Given the description of an element on the screen output the (x, y) to click on. 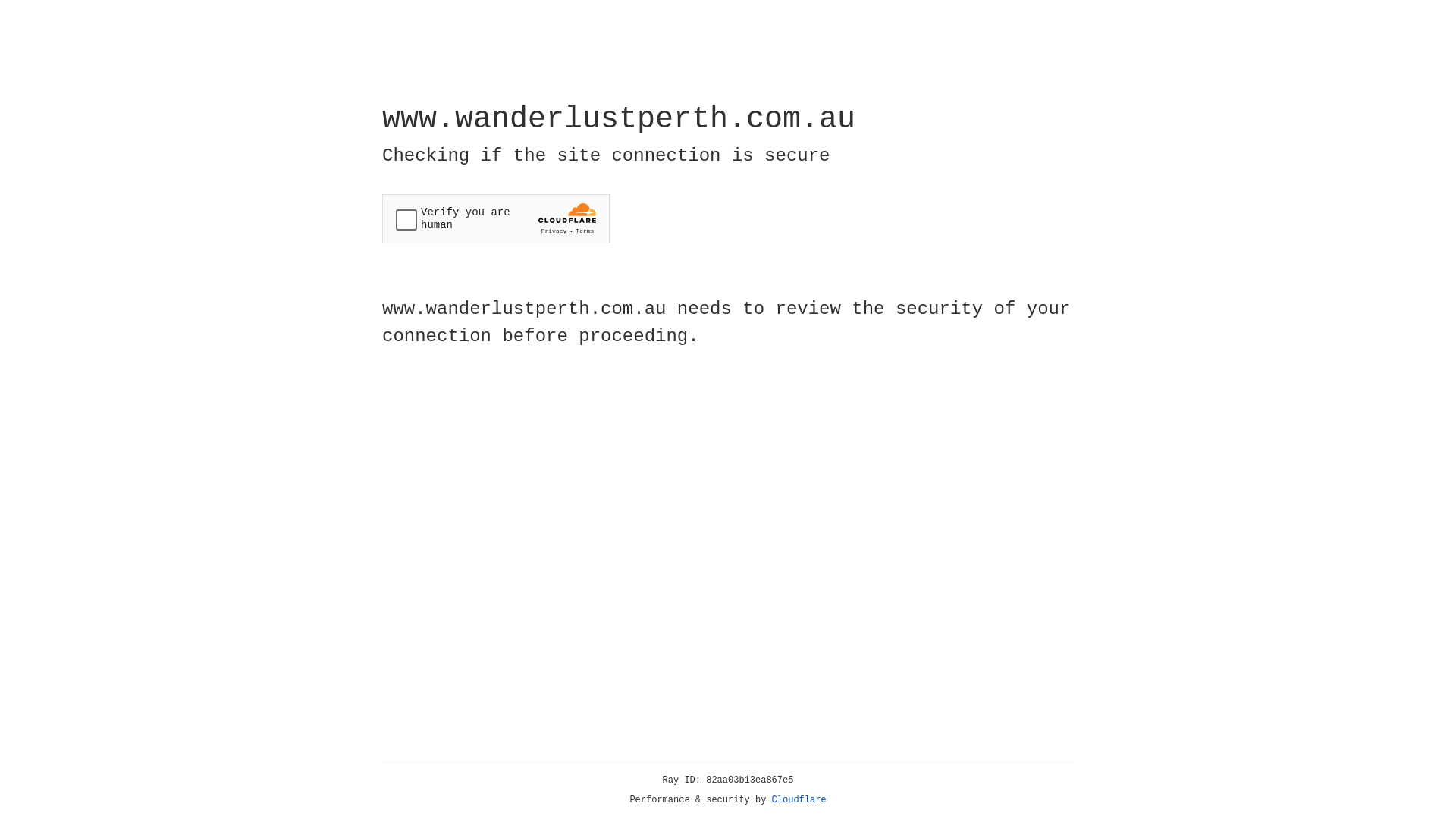
Widget containing a Cloudflare security challenge Element type: hover (495, 218)
Cloudflare Element type: text (798, 799)
